Given the description of an element on the screen output the (x, y) to click on. 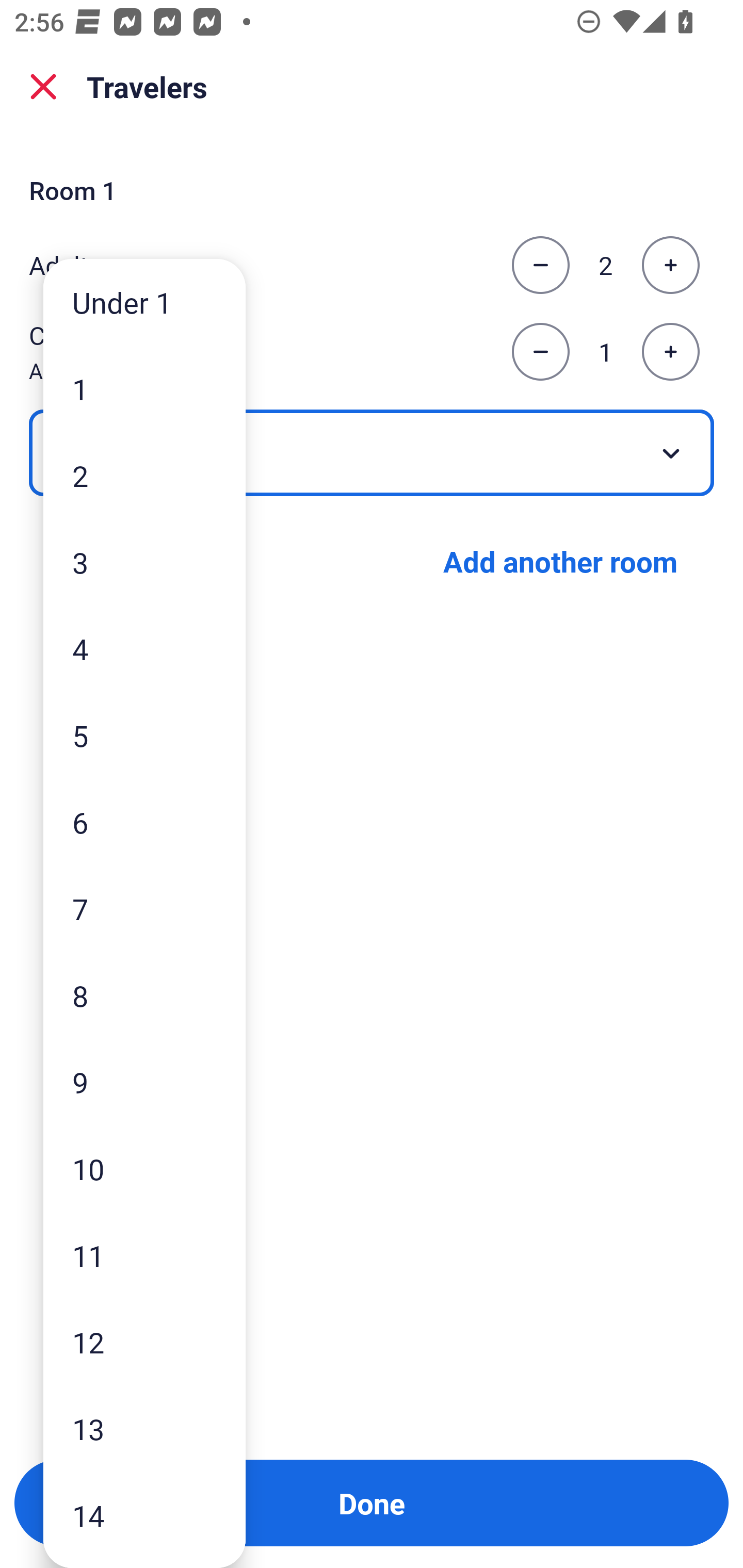
Under 1 (144, 301)
1 (144, 388)
2 (144, 475)
3 (144, 562)
4 (144, 648)
5 (144, 735)
6 (144, 822)
7 (144, 908)
8 (144, 994)
9 (144, 1081)
10 (144, 1168)
11 (144, 1255)
12 (144, 1342)
13 (144, 1429)
14 (144, 1515)
